Given the description of an element on the screen output the (x, y) to click on. 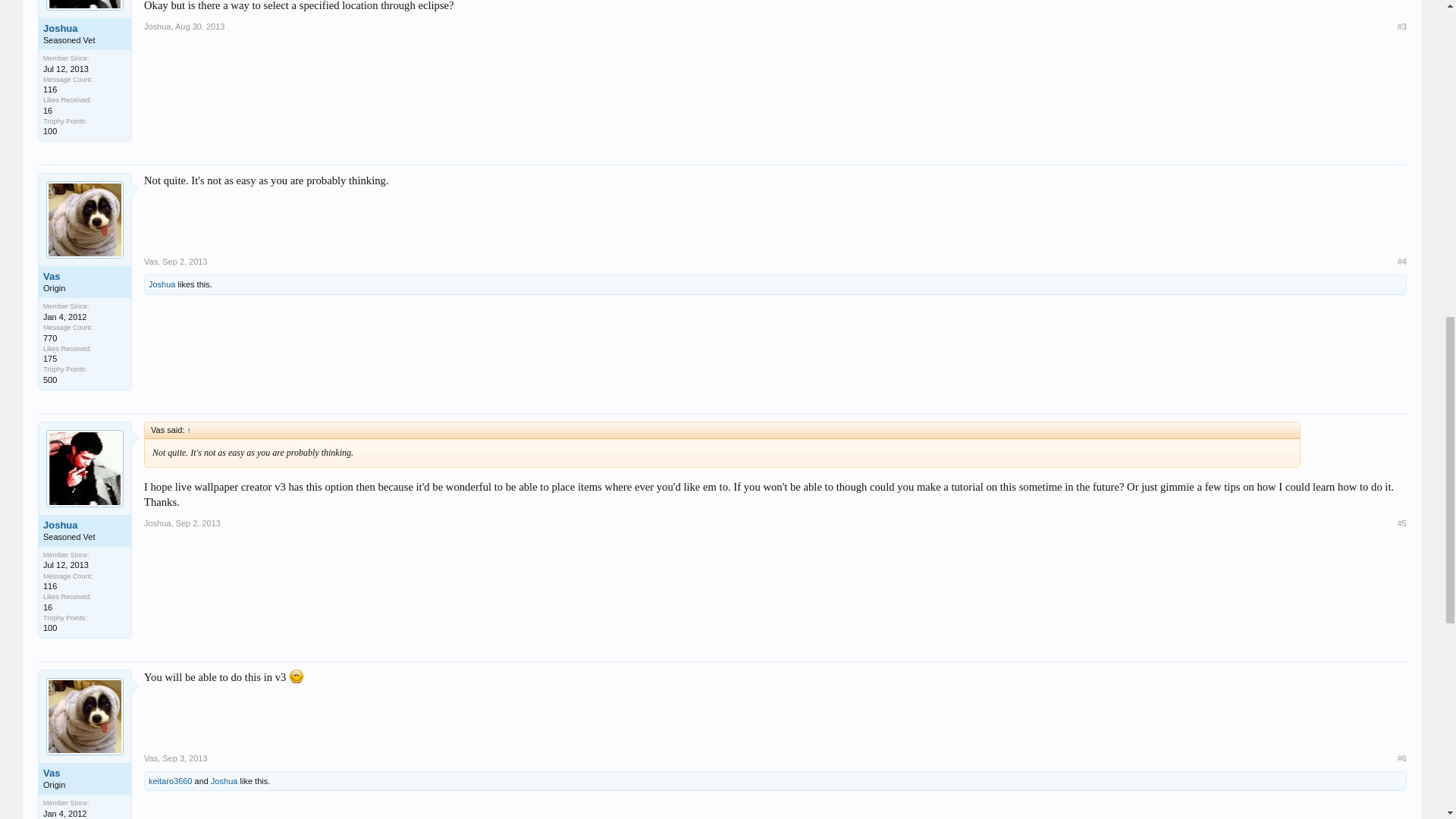
Permalink (198, 522)
Joshua (157, 26)
Vas (150, 261)
Vas (84, 276)
Joshua (84, 28)
Permalink (199, 26)
Permalink (183, 261)
116 (49, 89)
100 (49, 130)
Permalink (183, 757)
500 (49, 379)
Sep 2, 2013 (183, 261)
Aug 30, 2013 (199, 26)
770 (49, 338)
